Given the description of an element on the screen output the (x, y) to click on. 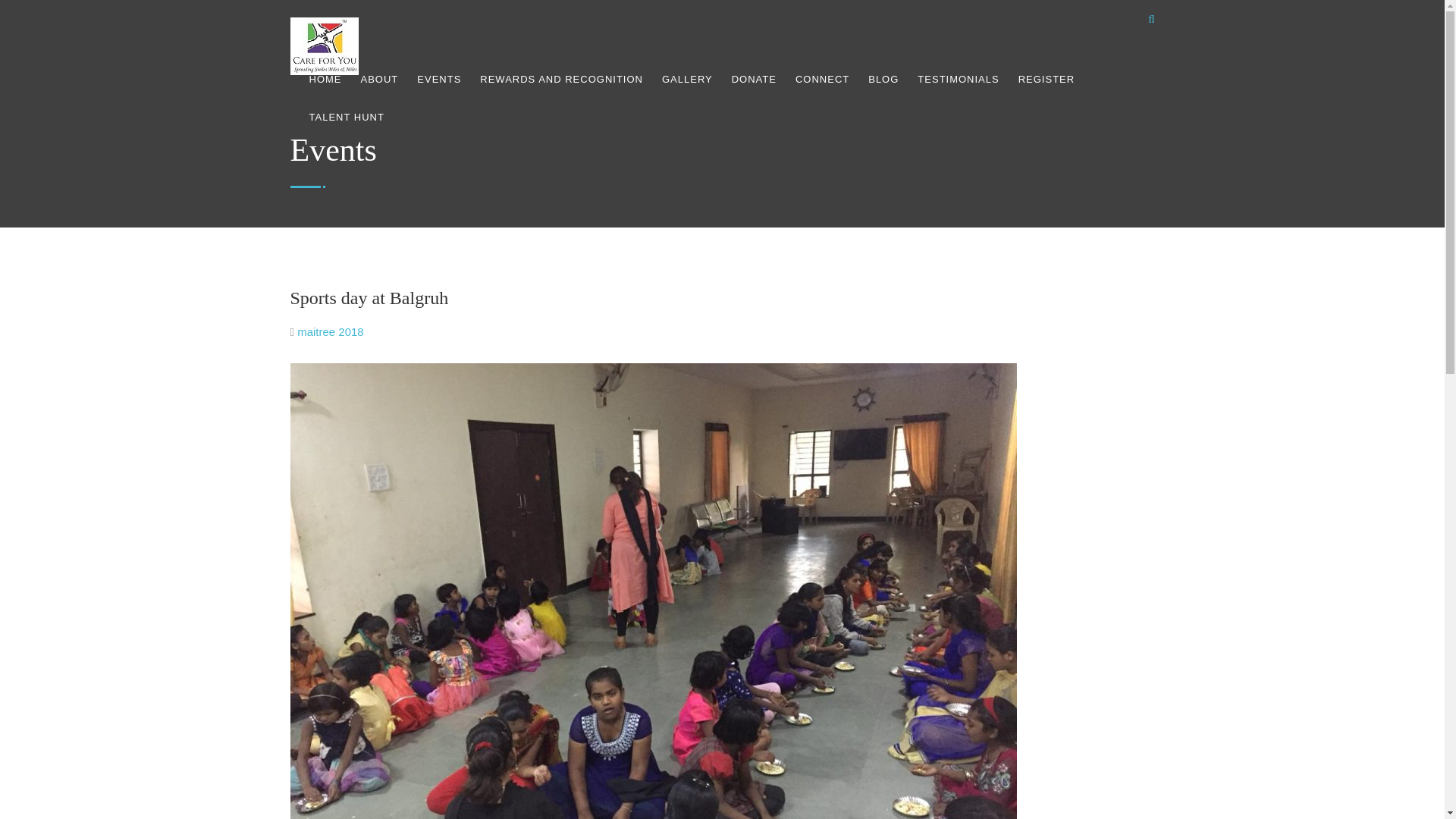
REWARDS AND RECOGNITION (561, 79)
ABOUT (379, 79)
TESTIMONIALS (957, 79)
EVENTS (438, 79)
CONNECT (821, 79)
GALLERY (687, 79)
DONATE (754, 79)
